Given the description of an element on the screen output the (x, y) to click on. 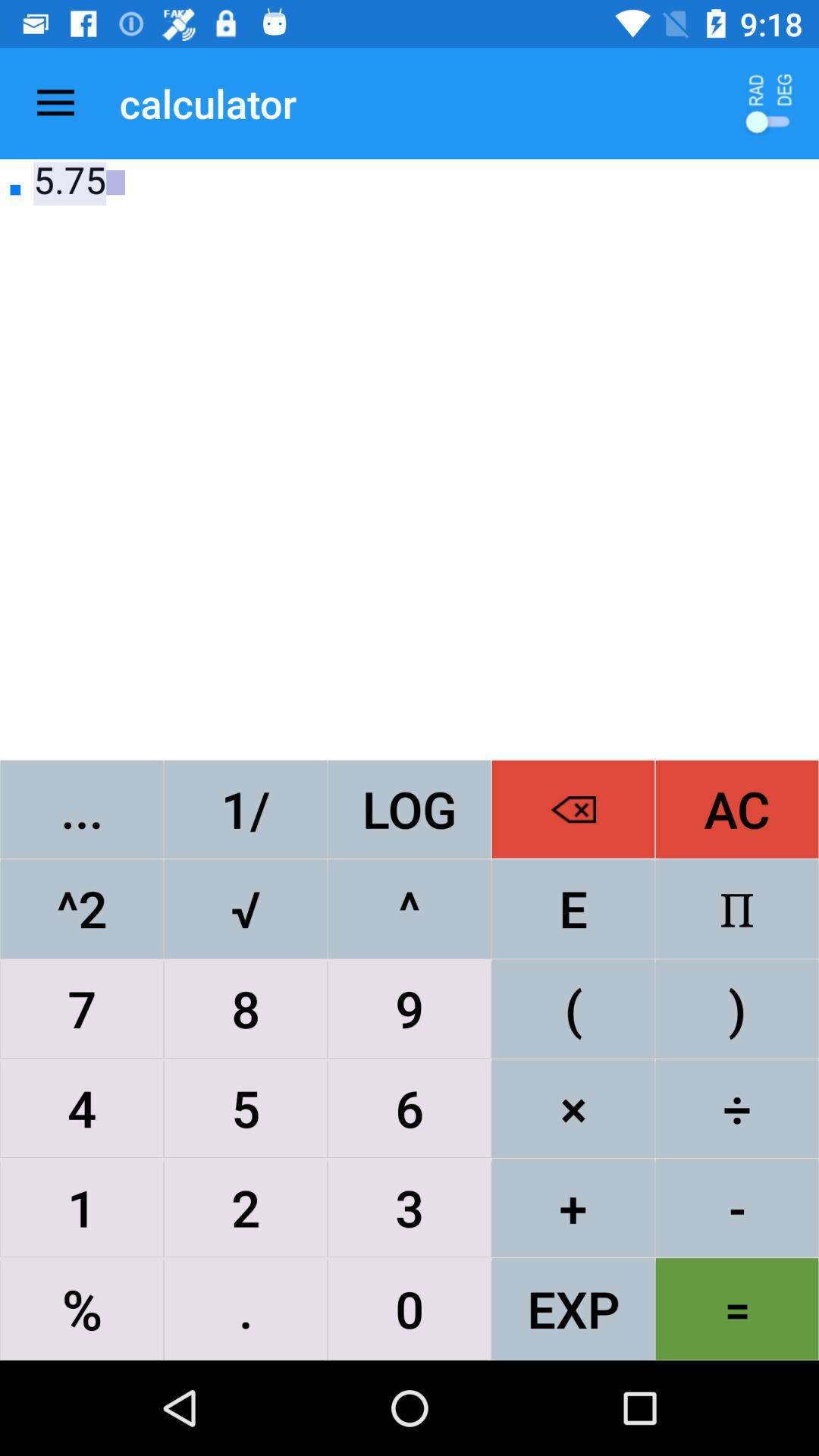
turn off icon next to the log item (572, 809)
